Given the description of an element on the screen output the (x, y) to click on. 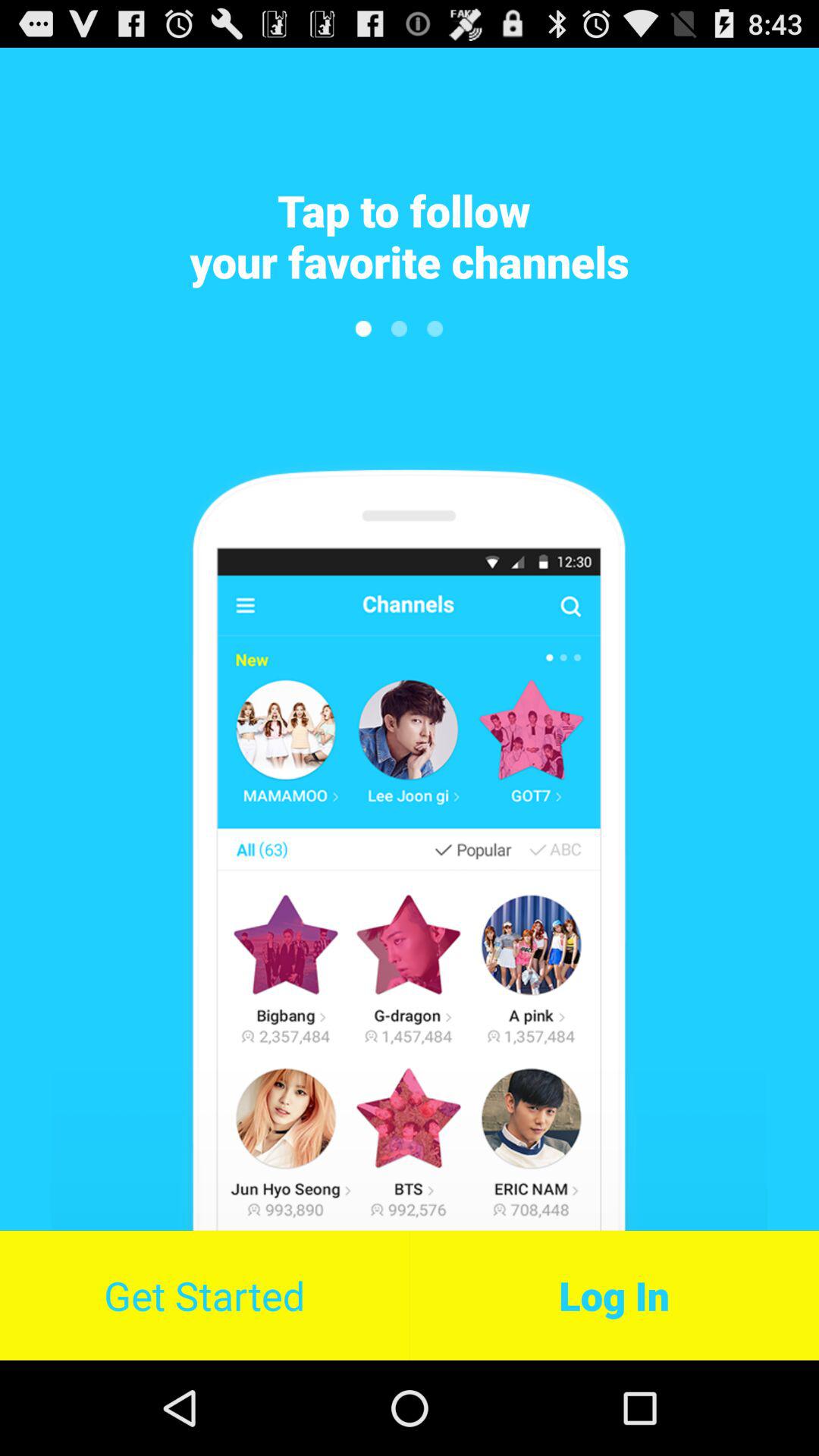
open the log in button (614, 1295)
